Given the description of an element on the screen output the (x, y) to click on. 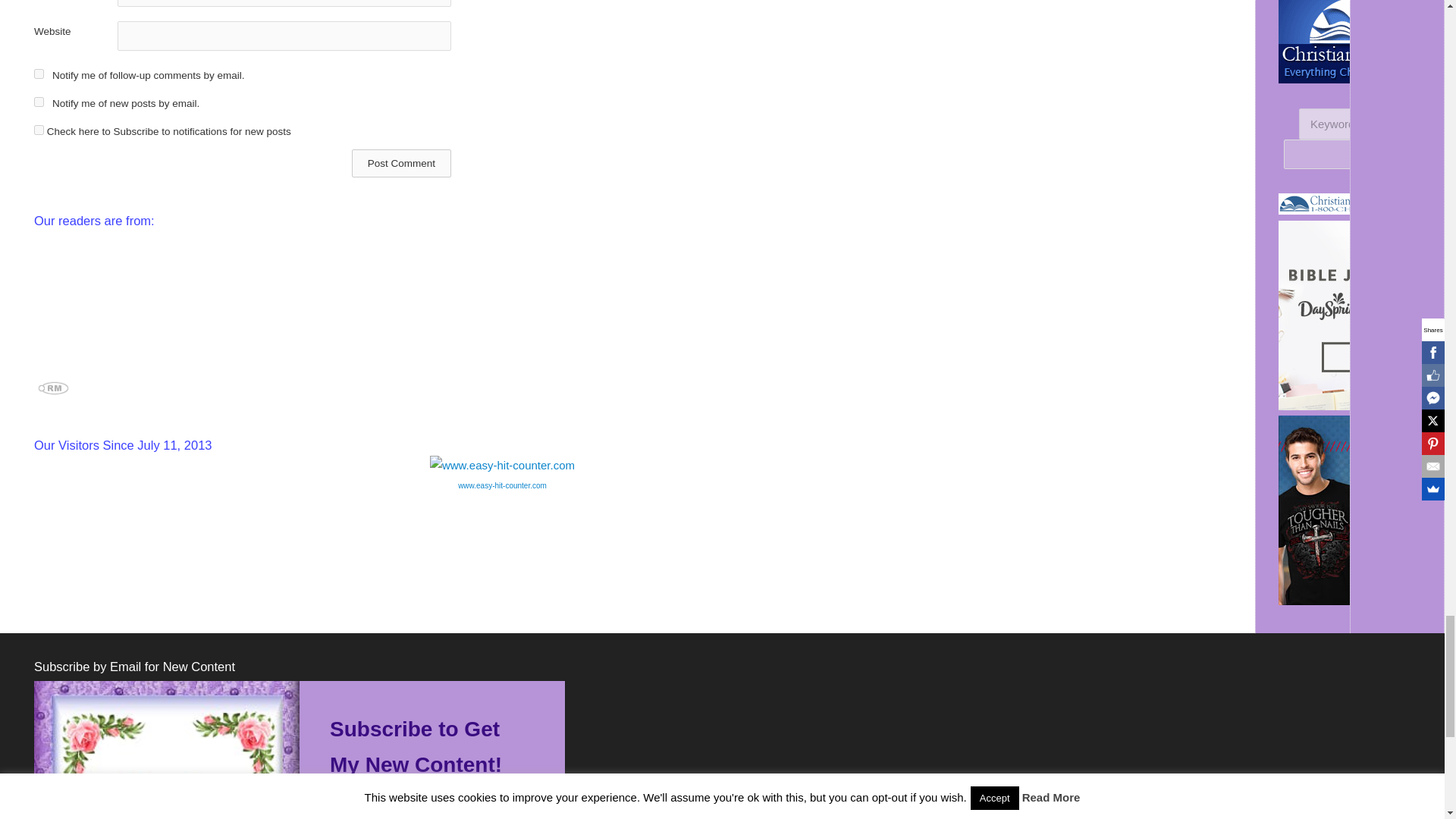
subscribe (38, 73)
1 (38, 130)
Post Comment (401, 163)
subscribe (38, 102)
